Given the description of an element on the screen output the (x, y) to click on. 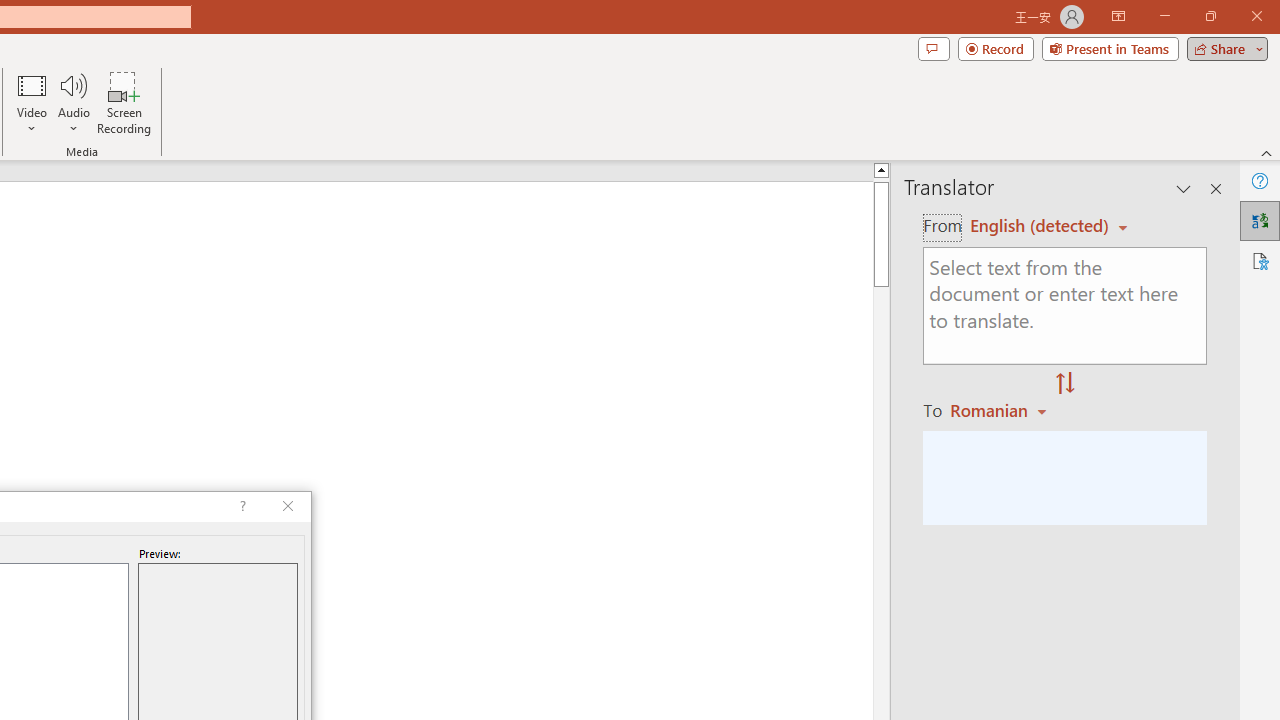
Video (31, 102)
